Given the description of an element on the screen output the (x, y) to click on. 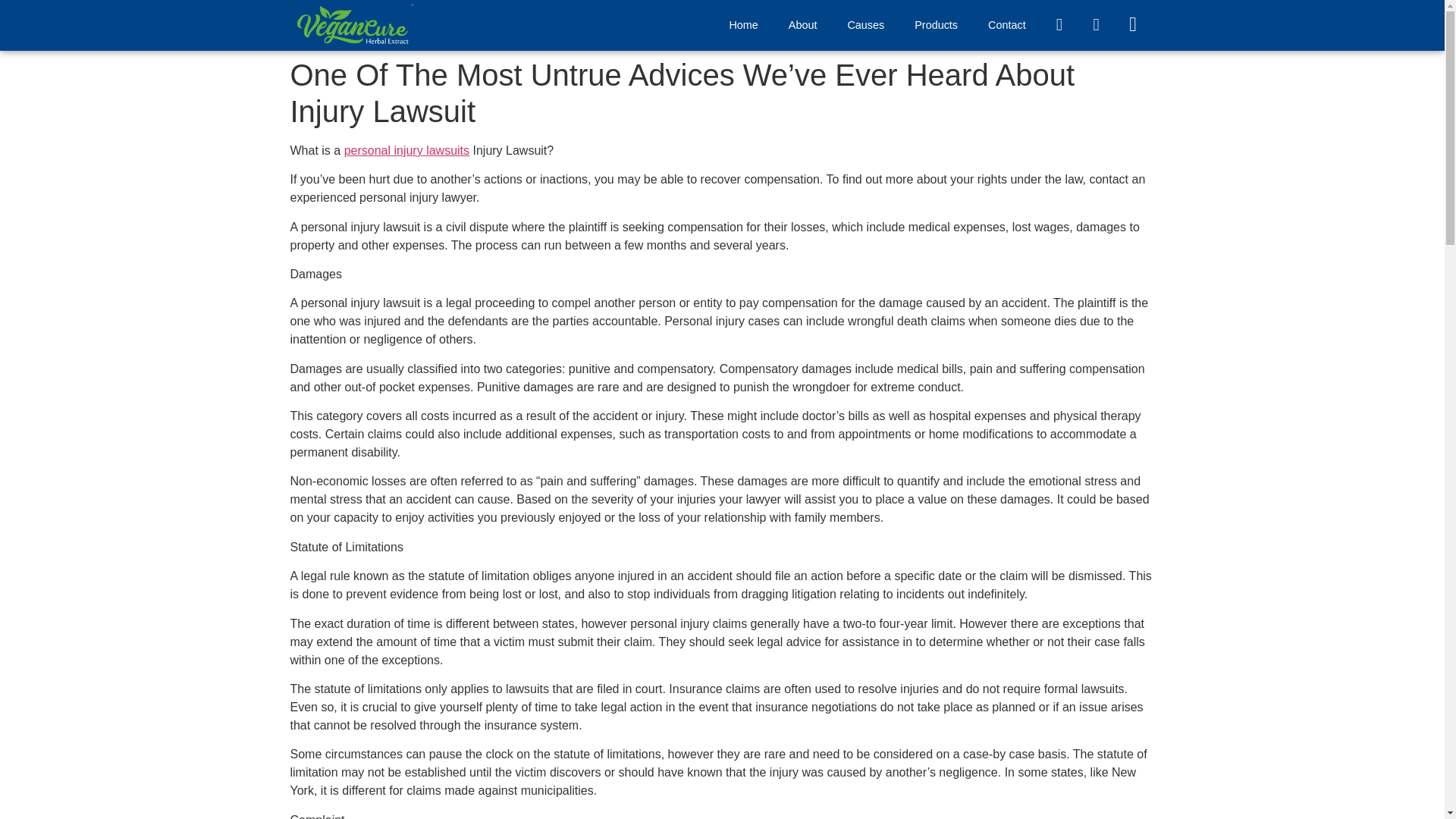
Home (743, 24)
Causes (865, 24)
Products (935, 24)
Contact (1006, 24)
About (802, 24)
personal injury lawsuits (405, 150)
